Given the description of an element on the screen output the (x, y) to click on. 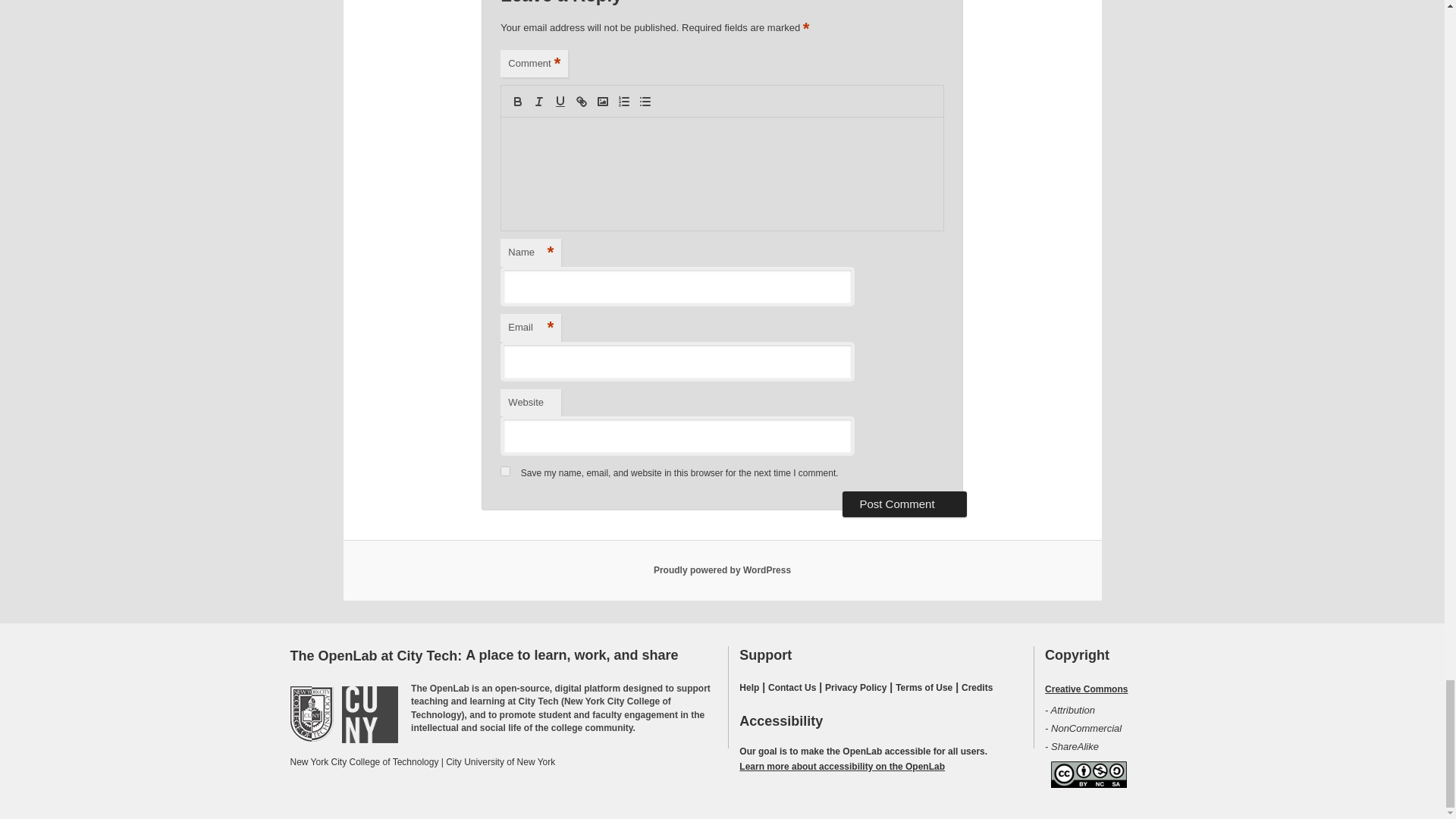
Semantic Personal Publishing Platform (721, 570)
Post Comment (904, 503)
yes (505, 470)
